Given the description of an element on the screen output the (x, y) to click on. 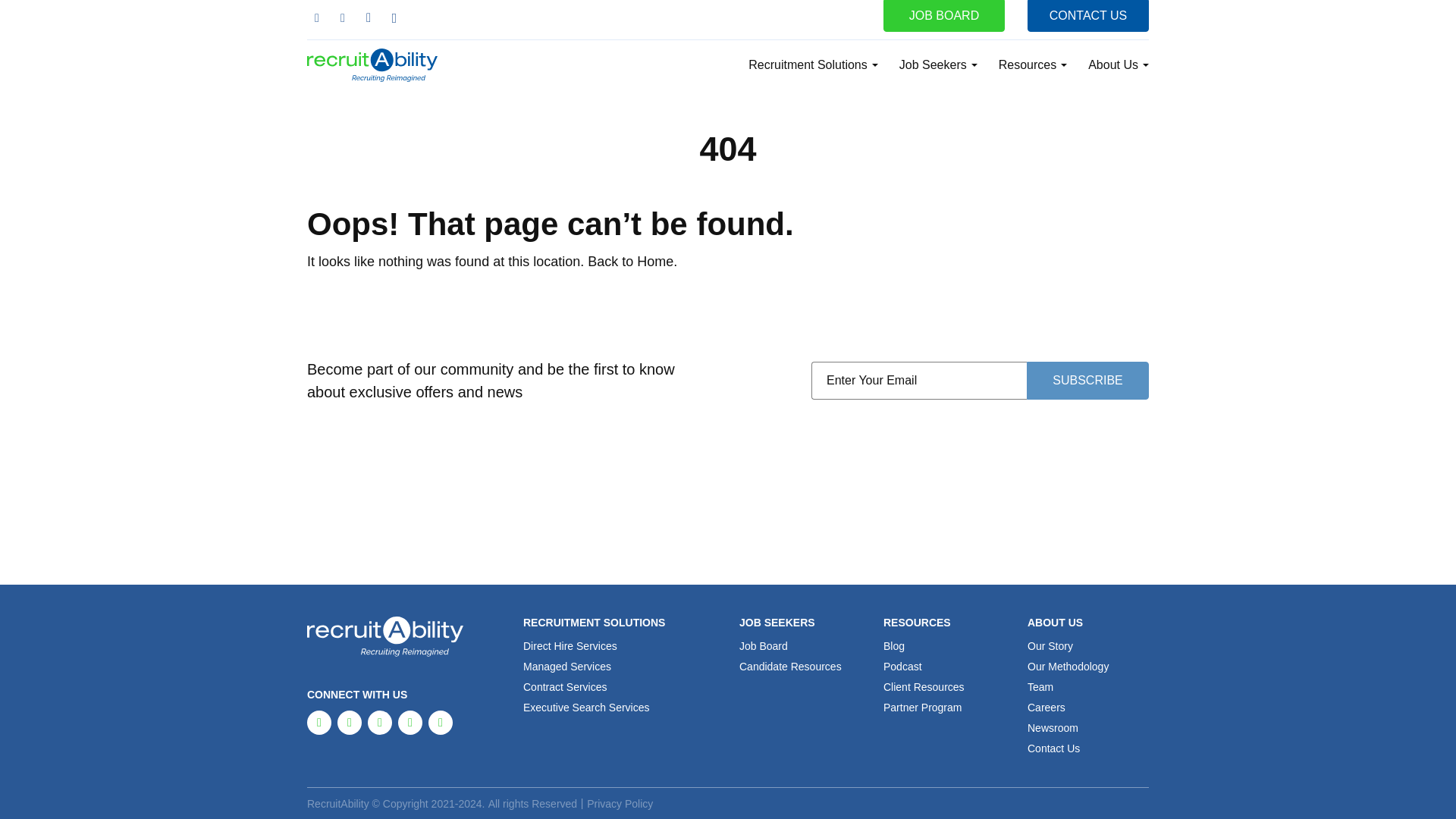
Recruitment Solutions (812, 64)
JOB BOARD (943, 15)
About Us (1117, 64)
brands (379, 722)
Managed Services (566, 666)
Direct Hire Services (569, 645)
brands (440, 722)
brands (368, 17)
Executive Search Services (585, 707)
brands (394, 17)
